Given the description of an element on the screen output the (x, y) to click on. 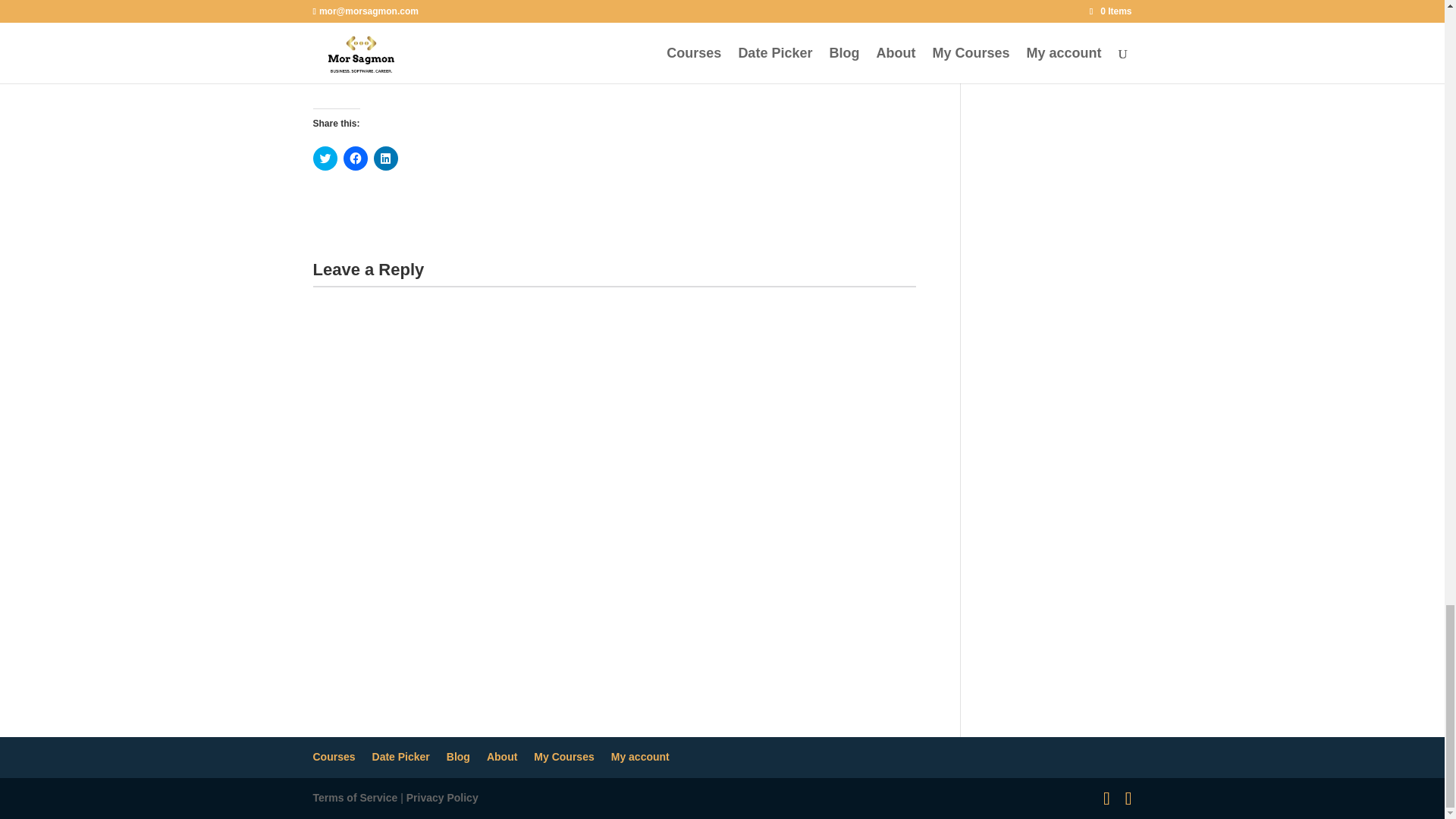
Blog (458, 756)
YES! Show me some of your projects, Mor (614, 8)
About (501, 756)
Click to share on LinkedIn (384, 158)
My Courses (564, 756)
Click to share on Twitter (324, 158)
Click to share on Facebook (354, 158)
Courses (334, 756)
Date Picker (400, 756)
